Given the description of an element on the screen output the (x, y) to click on. 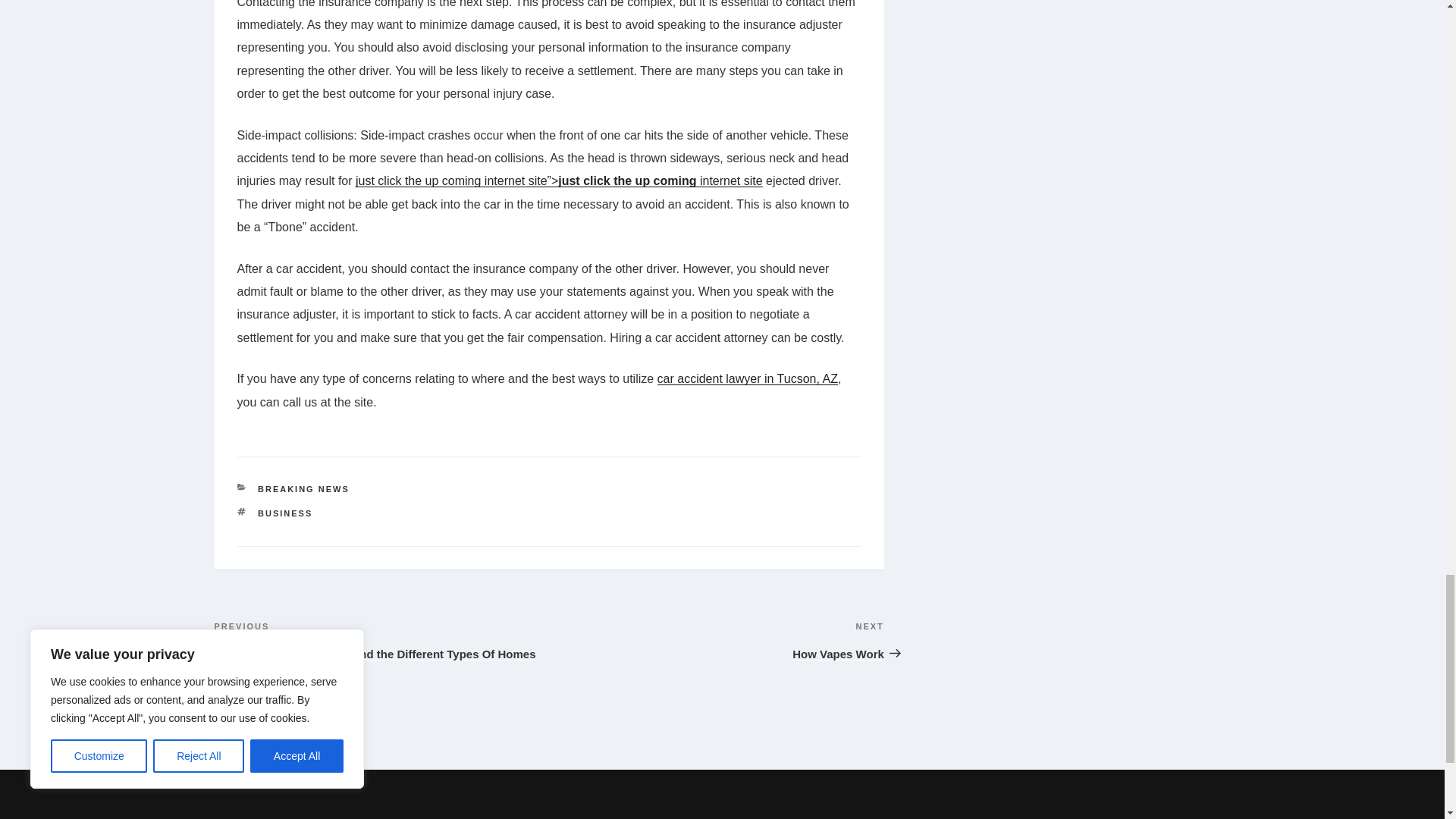
car accident lawyer in Tucson, AZ (715, 639)
BREAKING NEWS (748, 378)
BUSINESS (303, 488)
